Given the description of an element on the screen output the (x, y) to click on. 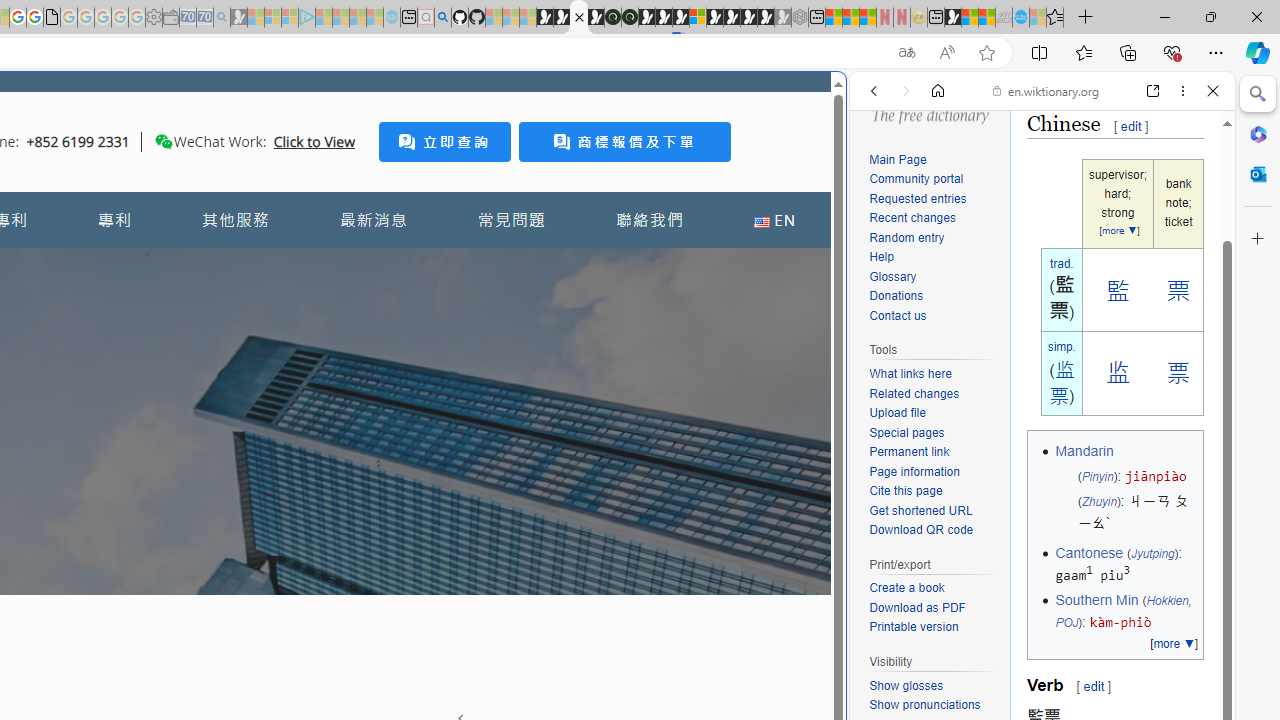
Permanent link (934, 452)
Cite this page (934, 491)
